Given the description of an element on the screen output the (x, y) to click on. 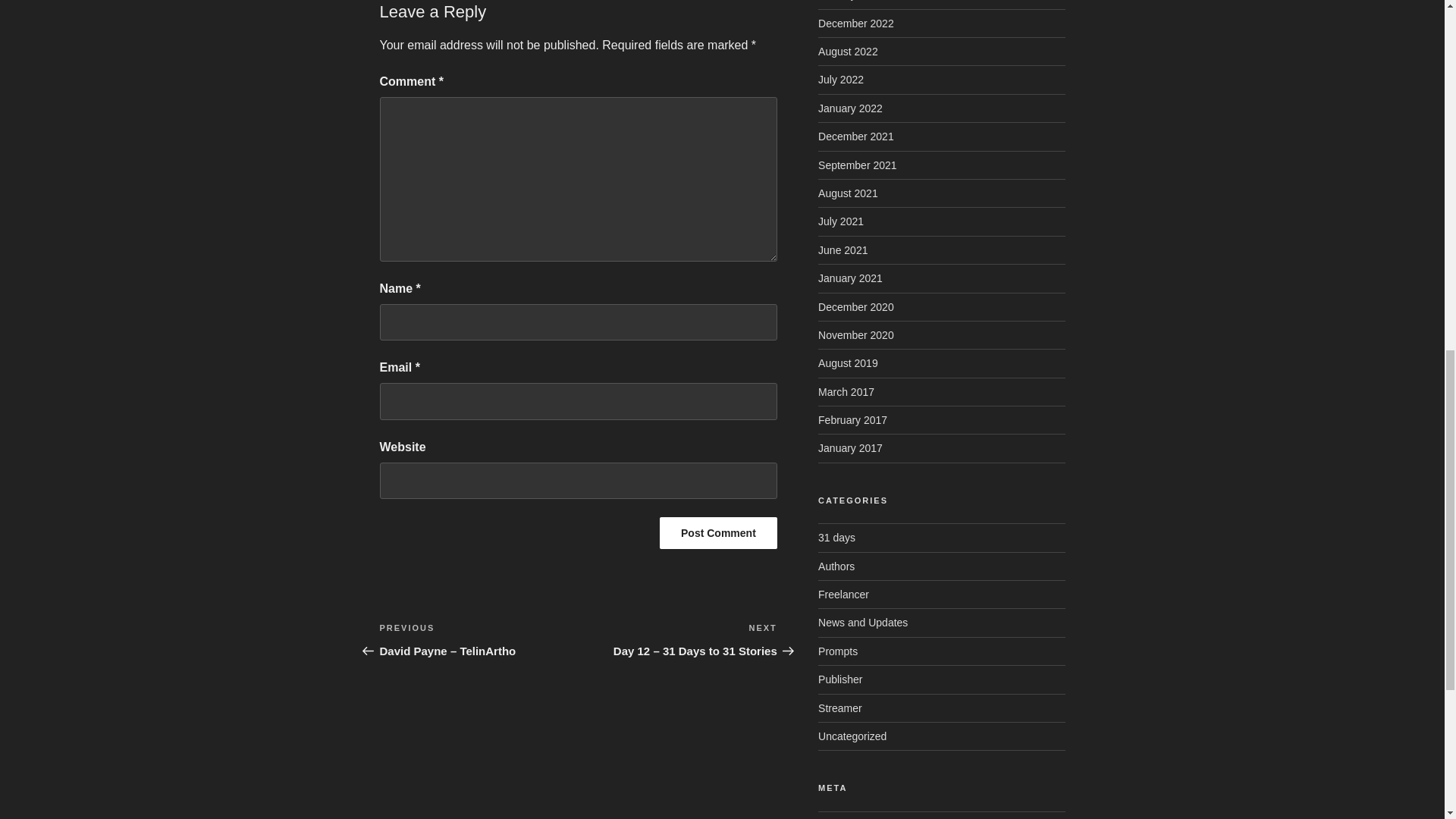
August 2022 (847, 51)
January 2021 (850, 277)
June 2021 (842, 250)
August 2021 (847, 193)
December 2021 (855, 136)
November 2020 (855, 335)
July 2022 (840, 79)
December 2022 (855, 23)
December 2020 (855, 306)
Post Comment (718, 532)
Post Comment (718, 532)
July 2021 (840, 221)
January 2023 (850, 0)
January 2022 (850, 108)
September 2021 (857, 164)
